Given the description of an element on the screen output the (x, y) to click on. 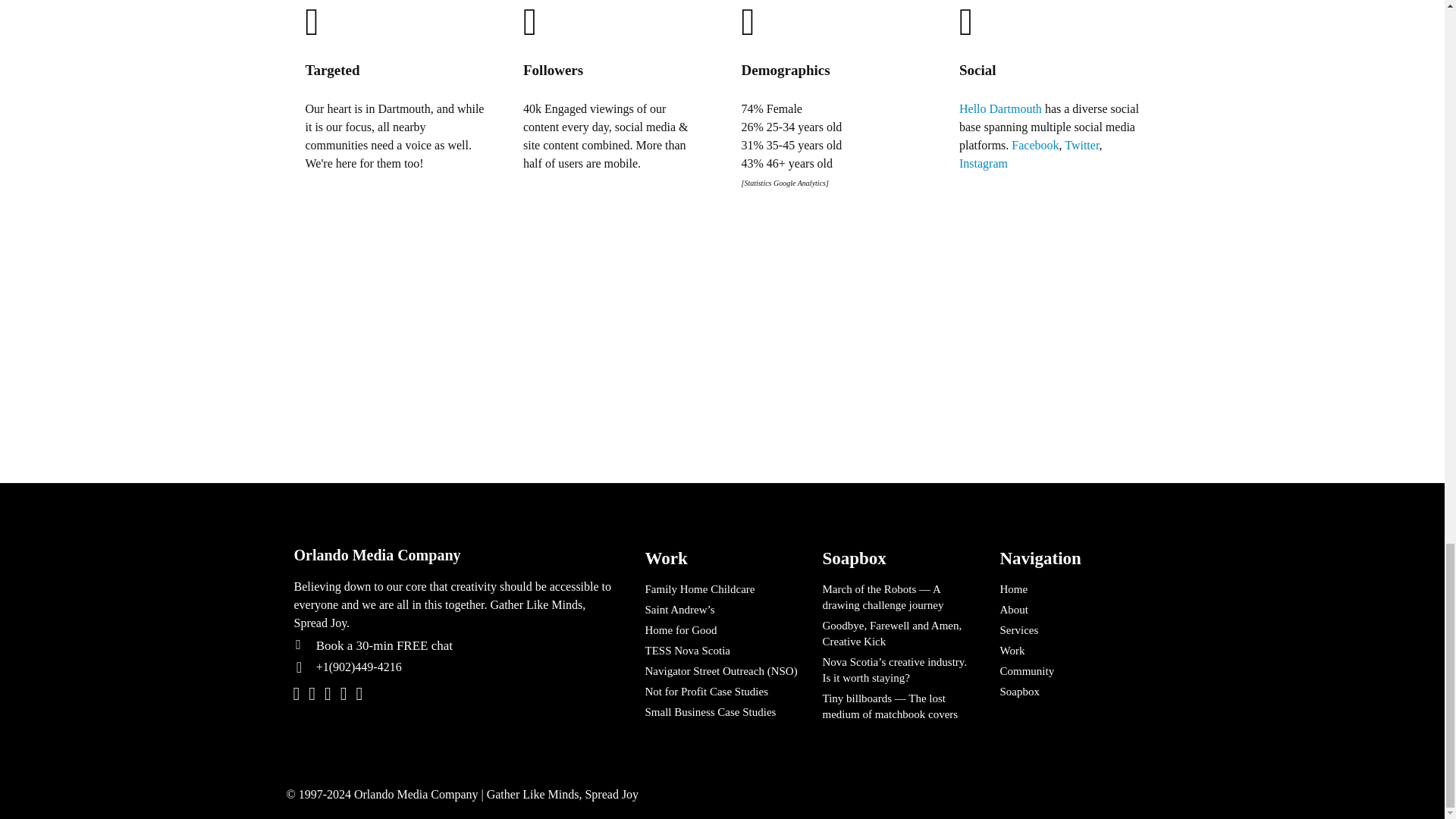
Book a 30-min FREE chat (465, 645)
Hello Dartmouth (1000, 107)
Facebook (1034, 144)
Twitter (1081, 144)
Orlando Media Company (455, 555)
Family Home Childcare (722, 589)
Home for Good (722, 629)
Instagram (983, 162)
TESS Nova Scotia (722, 650)
